Given the description of an element on the screen output the (x, y) to click on. 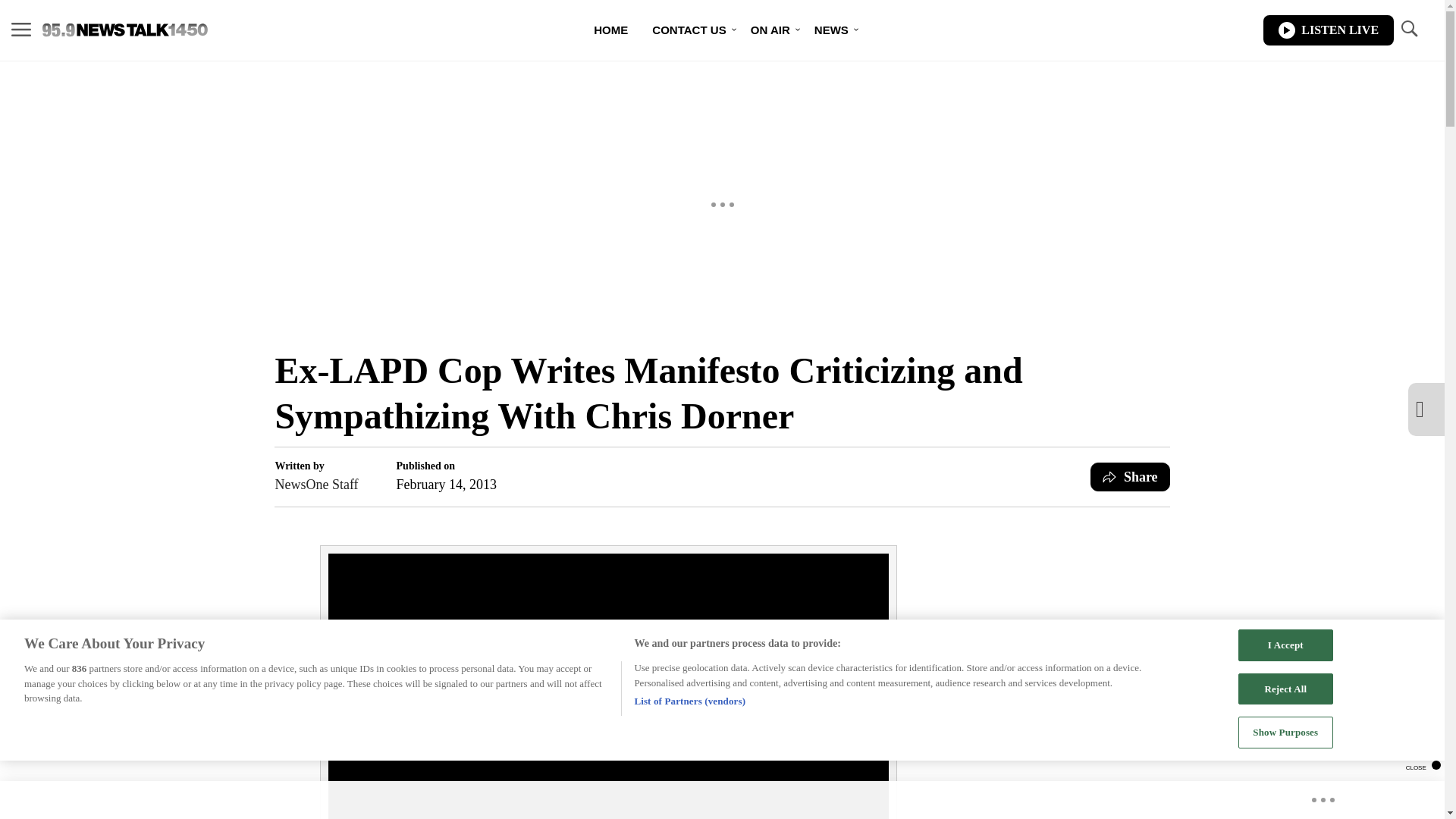
MENU (20, 29)
TOGGLE SEARCH (1408, 30)
TOGGLE SEARCH (1408, 28)
NewsOne Staff (316, 484)
HOME (610, 30)
NEWS (831, 30)
LISTEN LIVE (1328, 30)
ON AIR (770, 30)
CONTACT US (689, 30)
MENU (20, 30)
Share (1130, 476)
